Given the description of an element on the screen output the (x, y) to click on. 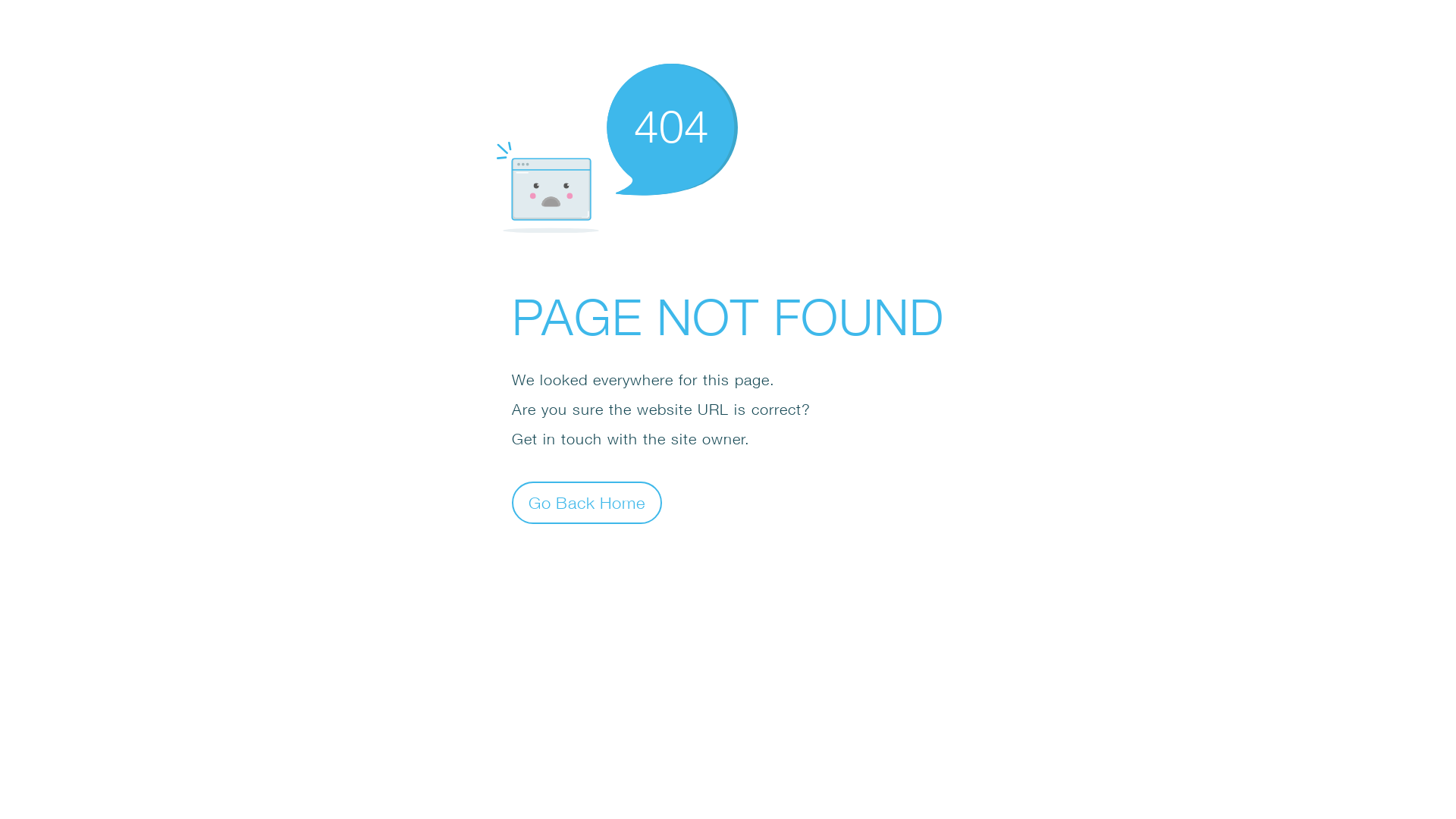
Go Back Home Element type: text (586, 502)
